Given the description of an element on the screen output the (x, y) to click on. 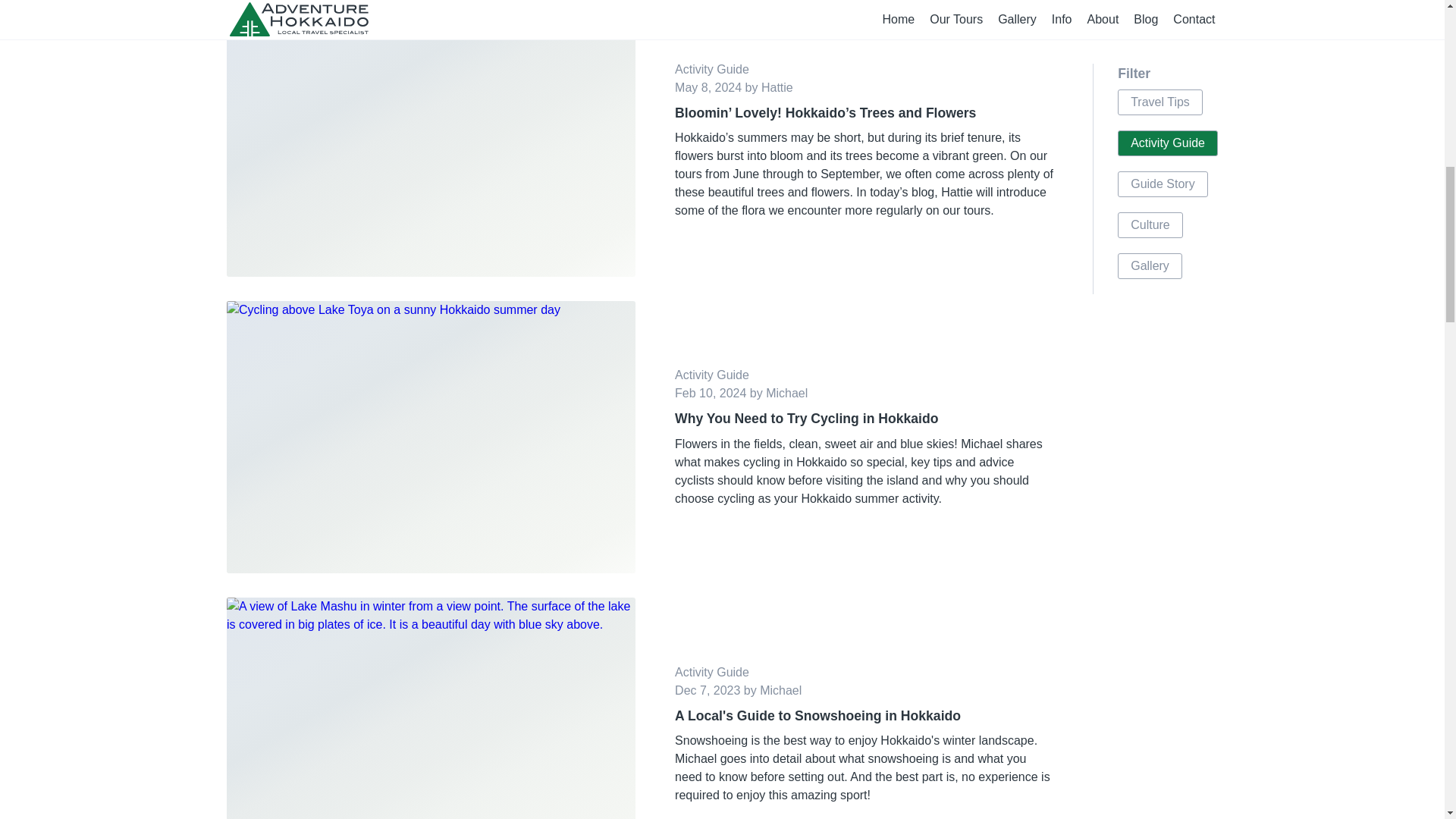
A Local's Guide to Snowshoeing in Hokkaido (863, 715)
Why You Need to Try Cycling in Hokkaido (863, 418)
